Given the description of an element on the screen output the (x, y) to click on. 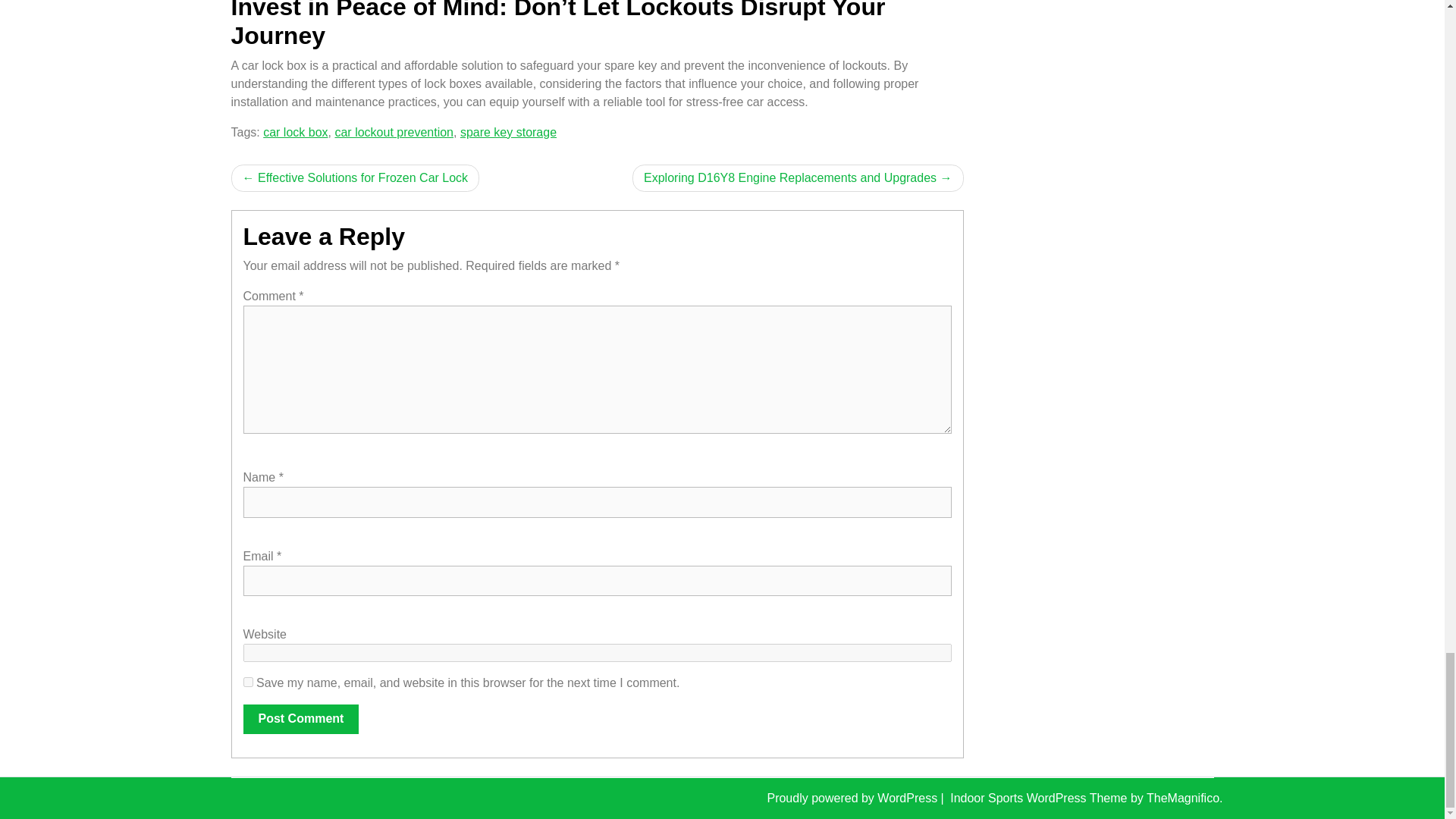
car lock box (295, 132)
yes (247, 682)
Exploring D16Y8 Engine Replacements and Upgrades (796, 177)
Post Comment (300, 718)
car lockout prevention (393, 132)
Post Comment (300, 718)
Effective Solutions for Frozen Car Lock (354, 177)
spare key storage (508, 132)
